Given the description of an element on the screen output the (x, y) to click on. 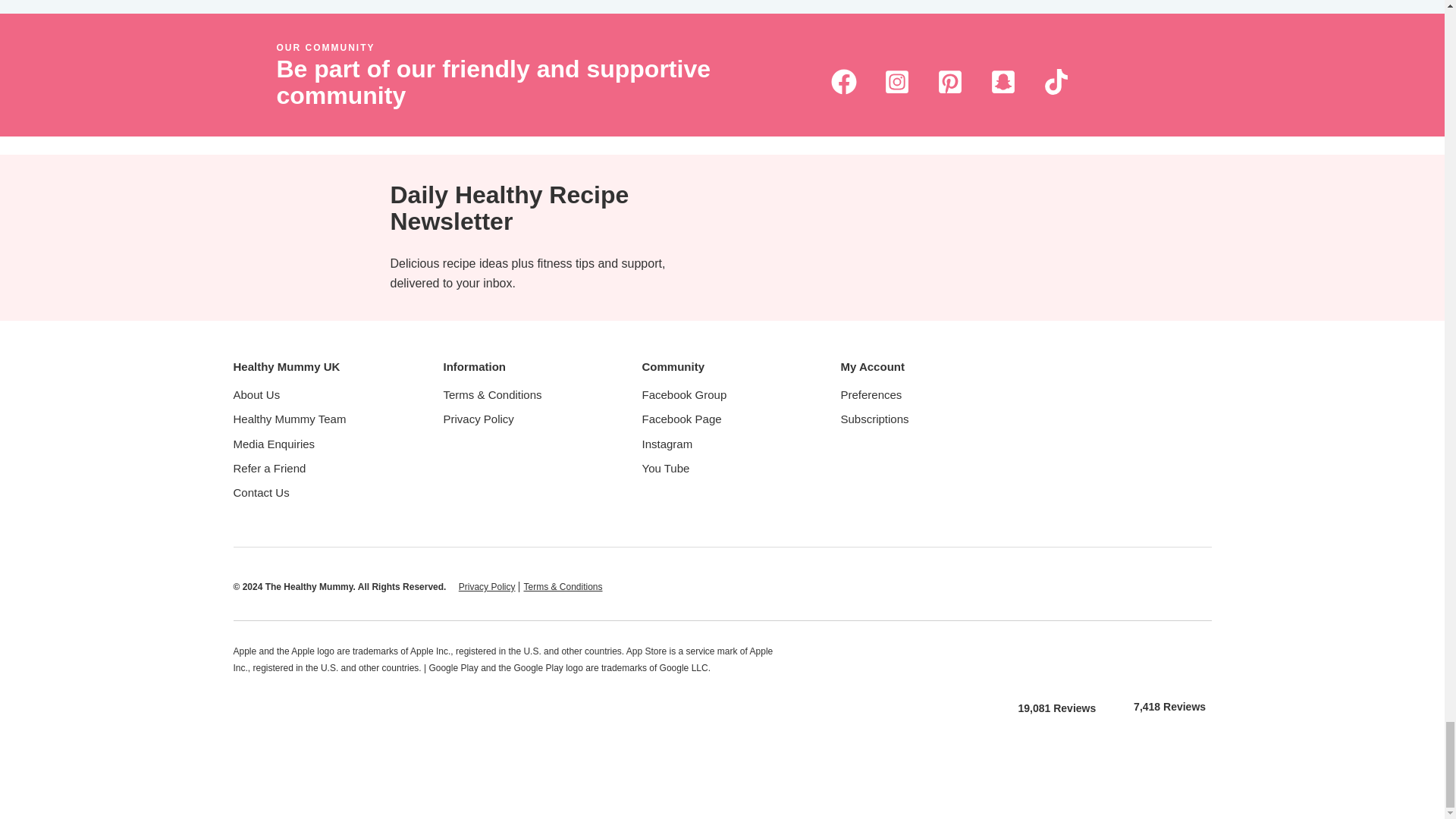
Privacy Policy (486, 586)
download on apple (1056, 662)
download on google play (1169, 661)
Customer reviews powered by Trustpilot (900, 700)
